Given the description of an element on the screen output the (x, y) to click on. 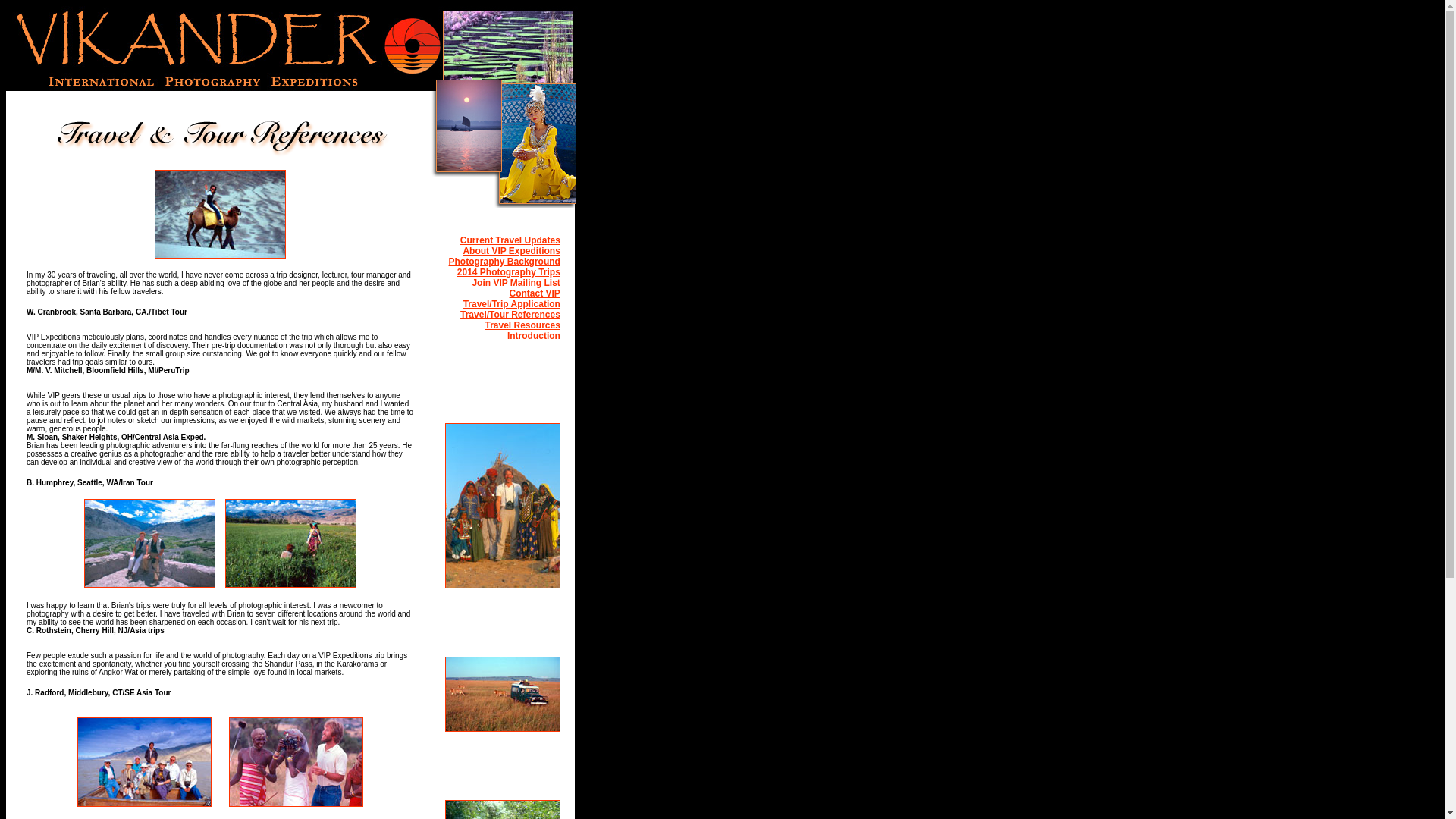
2014 Photography Trips (508, 271)
Photography Background (504, 261)
About VIP Expeditions (511, 250)
Contact VIP (534, 293)
Travel Resources (521, 325)
Current Travel Updates (510, 240)
Join VIP Mailing List (515, 282)
Introduction (533, 335)
